Given the description of an element on the screen output the (x, y) to click on. 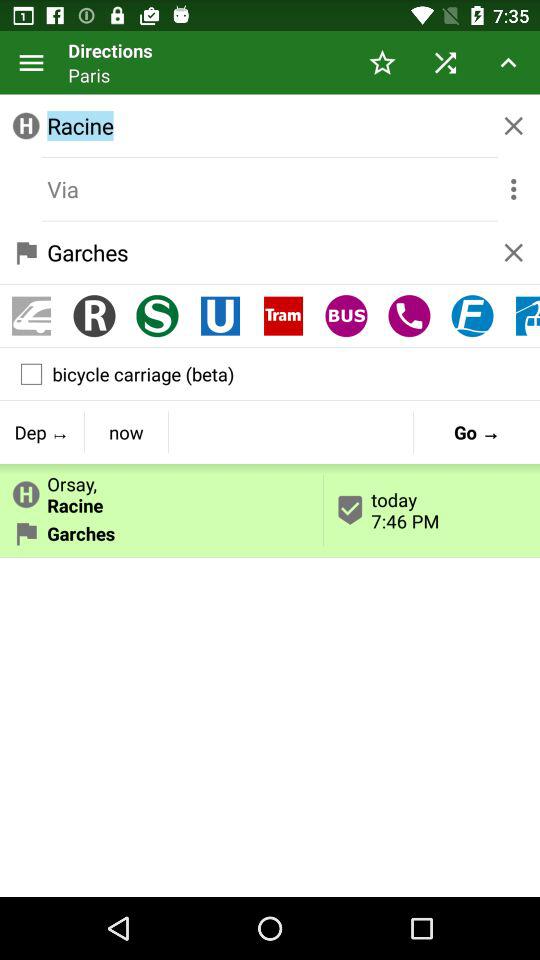
tap bicycle carriage (beta) at the center (269, 374)
